Given the description of an element on the screen output the (x, y) to click on. 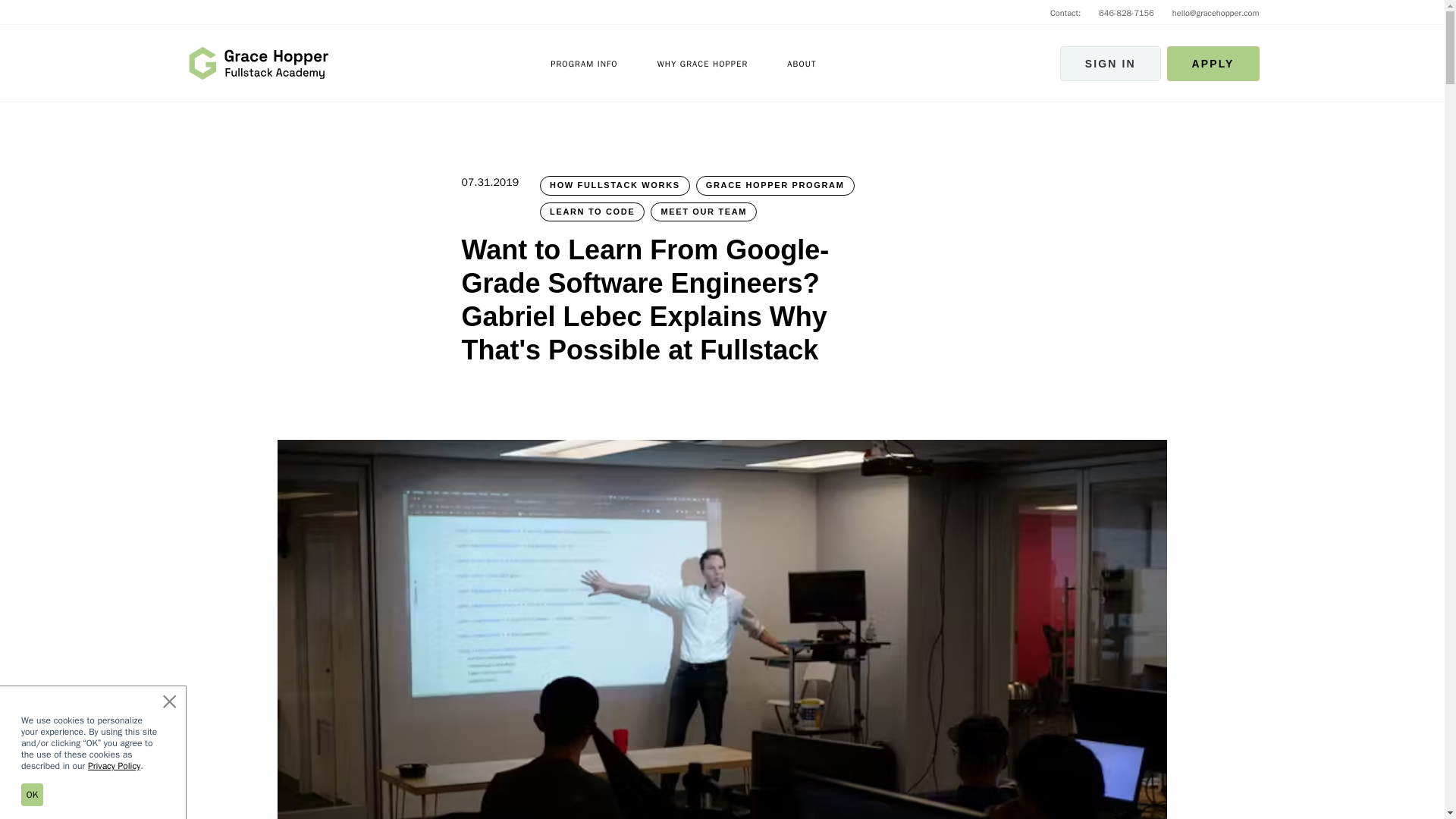
SIGN IN (1109, 62)
646-828-7156 (1126, 12)
APPLY (1213, 62)
GRACE HOPPER PROGRAM (774, 185)
MEET OUR TEAM (703, 211)
LEARN TO CODE (592, 211)
Privacy Policy (113, 766)
ABOUT (801, 62)
OK (32, 793)
PROGRAM INFO (584, 62)
HOW FULLSTACK WORKS (615, 185)
WHY GRACE HOPPER (702, 62)
